Given the description of an element on the screen output the (x, y) to click on. 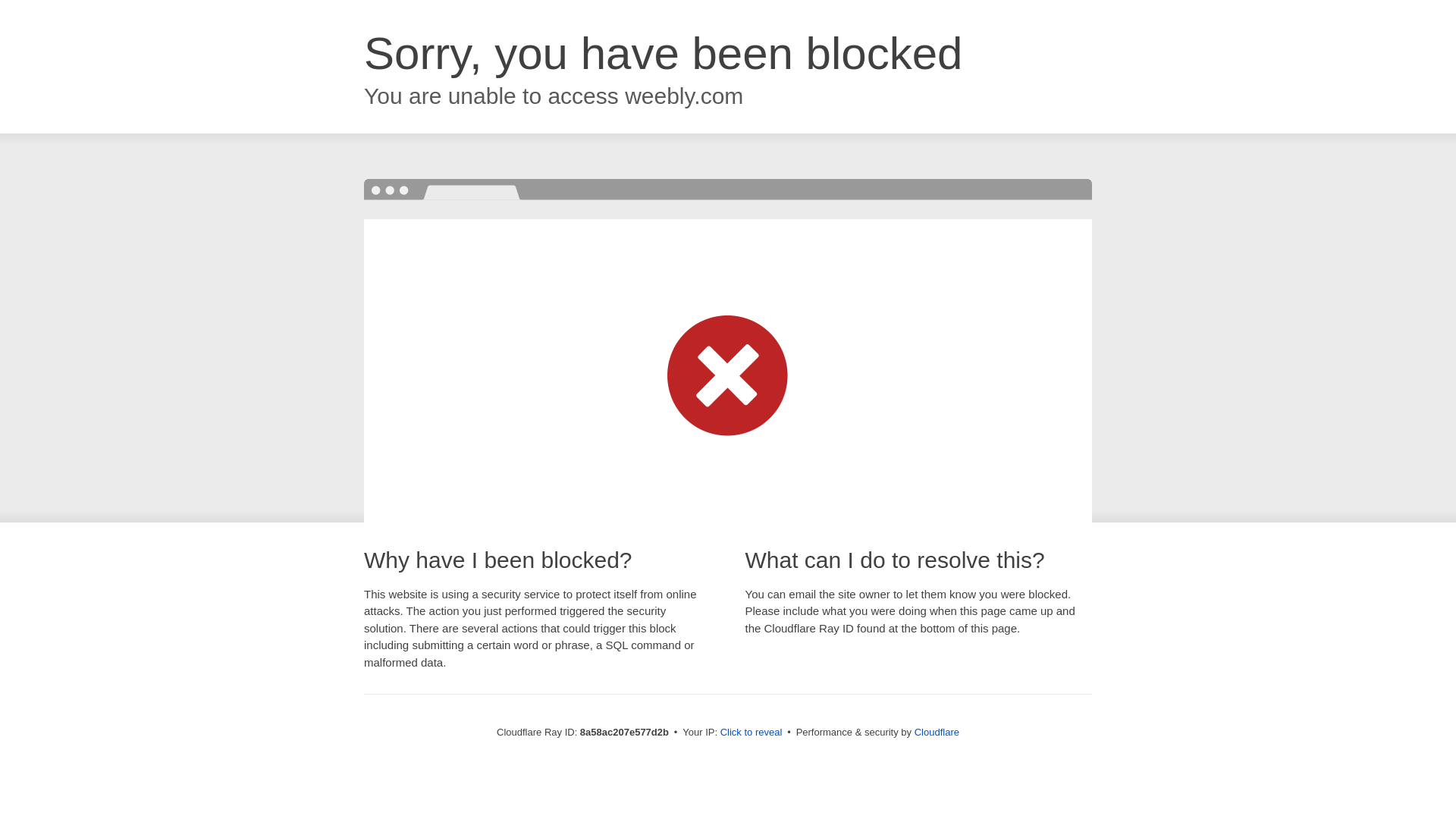
Click to reveal (751, 732)
Cloudflare (936, 731)
